Given the description of an element on the screen output the (x, y) to click on. 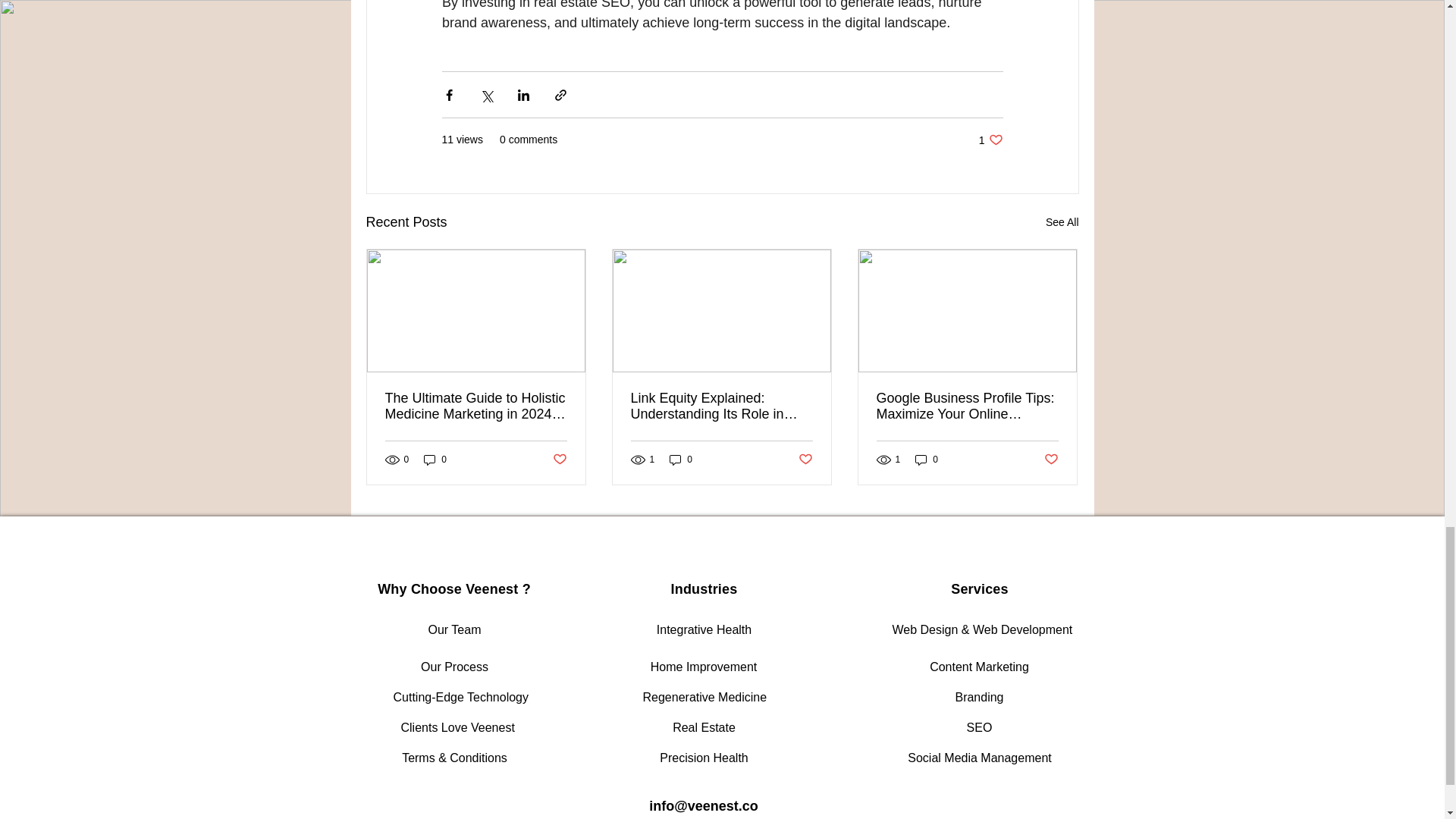
See All (1061, 222)
Post not marked as liked (990, 139)
0 (558, 459)
